Given the description of an element on the screen output the (x, y) to click on. 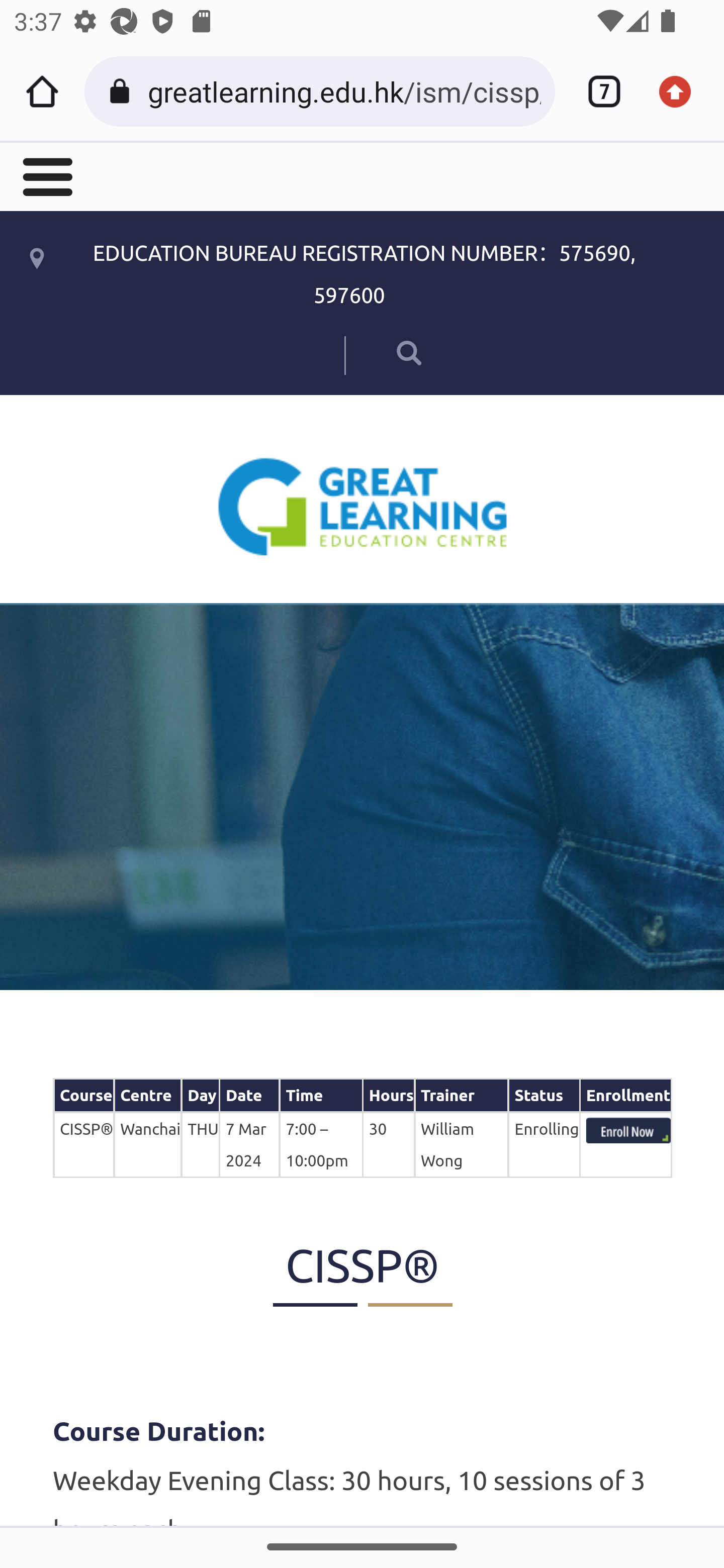
Home (42, 91)
Connection is secure (122, 91)
Switch or close tabs (597, 91)
Update available. More options (681, 91)
 (45, 175)
 (382, 351)
Welcome to Great Learning Education Centre (362, 505)
index (627, 1130)
